Given the description of an element on the screen output the (x, y) to click on. 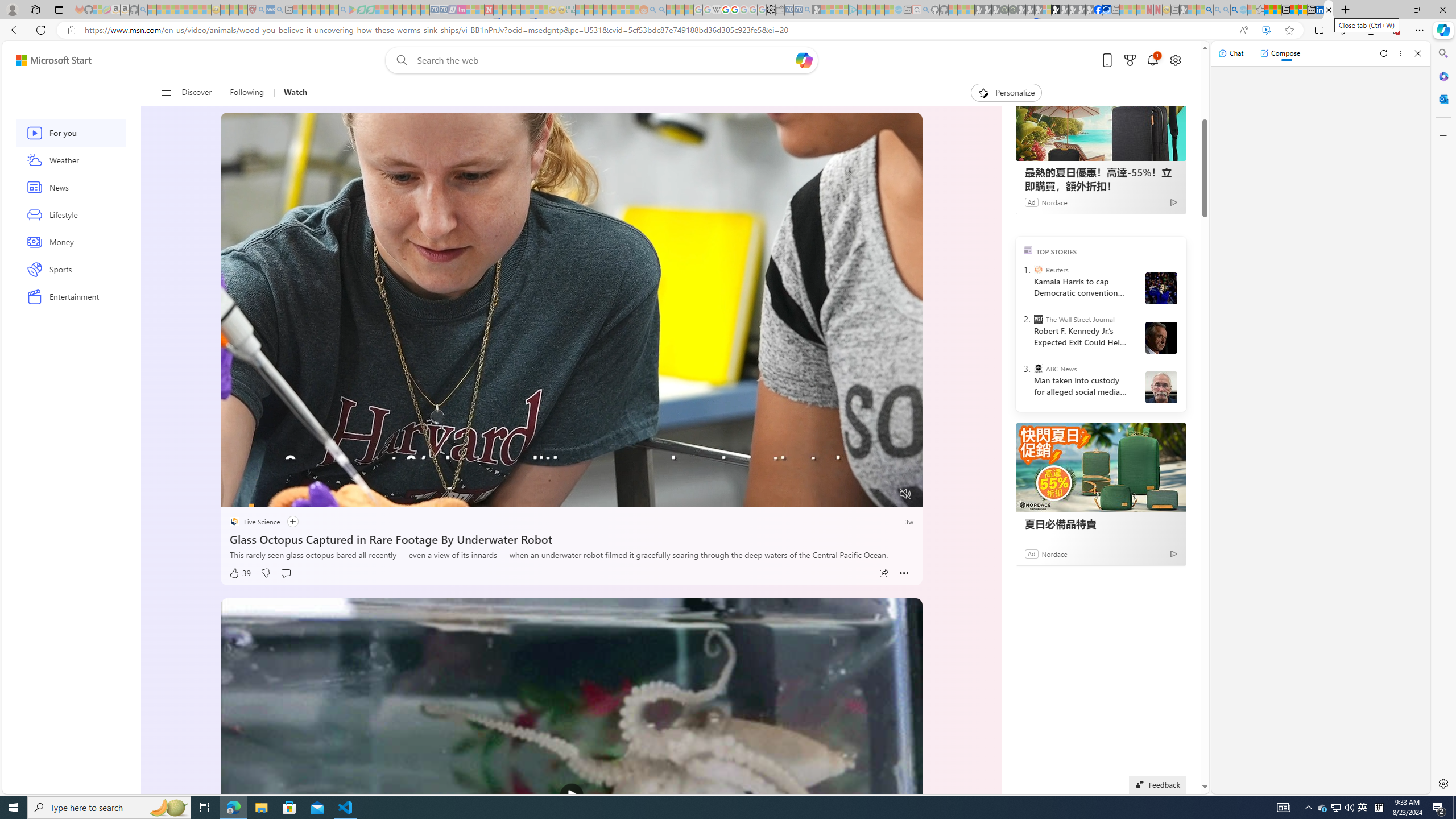
The Wall Street Journal (1037, 318)
